Given the description of an element on the screen output the (x, y) to click on. 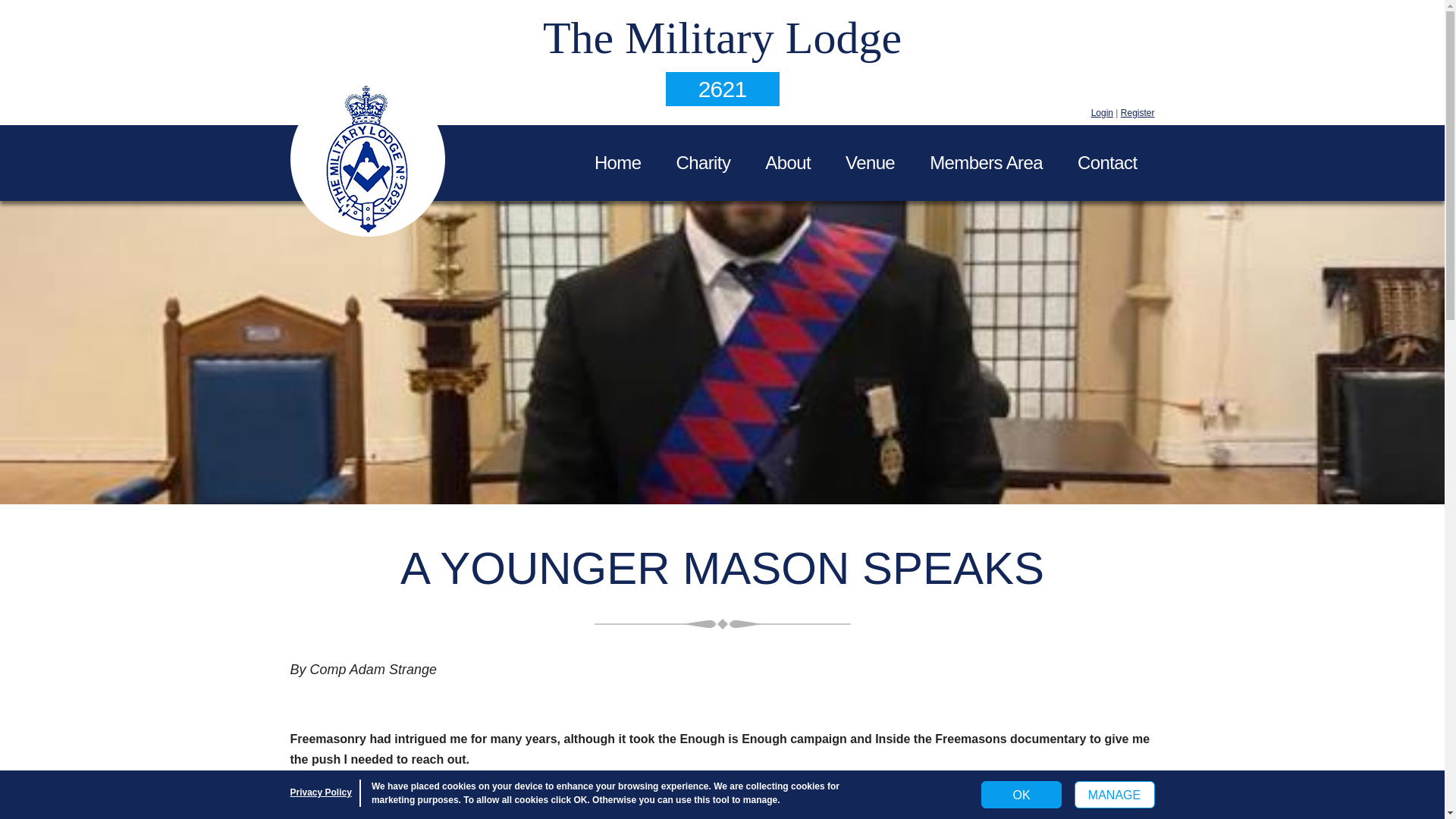
MANAGE (1114, 794)
Contact (1106, 162)
Login (1101, 112)
Members Area (985, 162)
OK (1021, 794)
About (788, 162)
Register (1137, 112)
Privacy Policy (319, 792)
Home (617, 162)
Venue (870, 162)
Charity (703, 162)
